Given the description of an element on the screen output the (x, y) to click on. 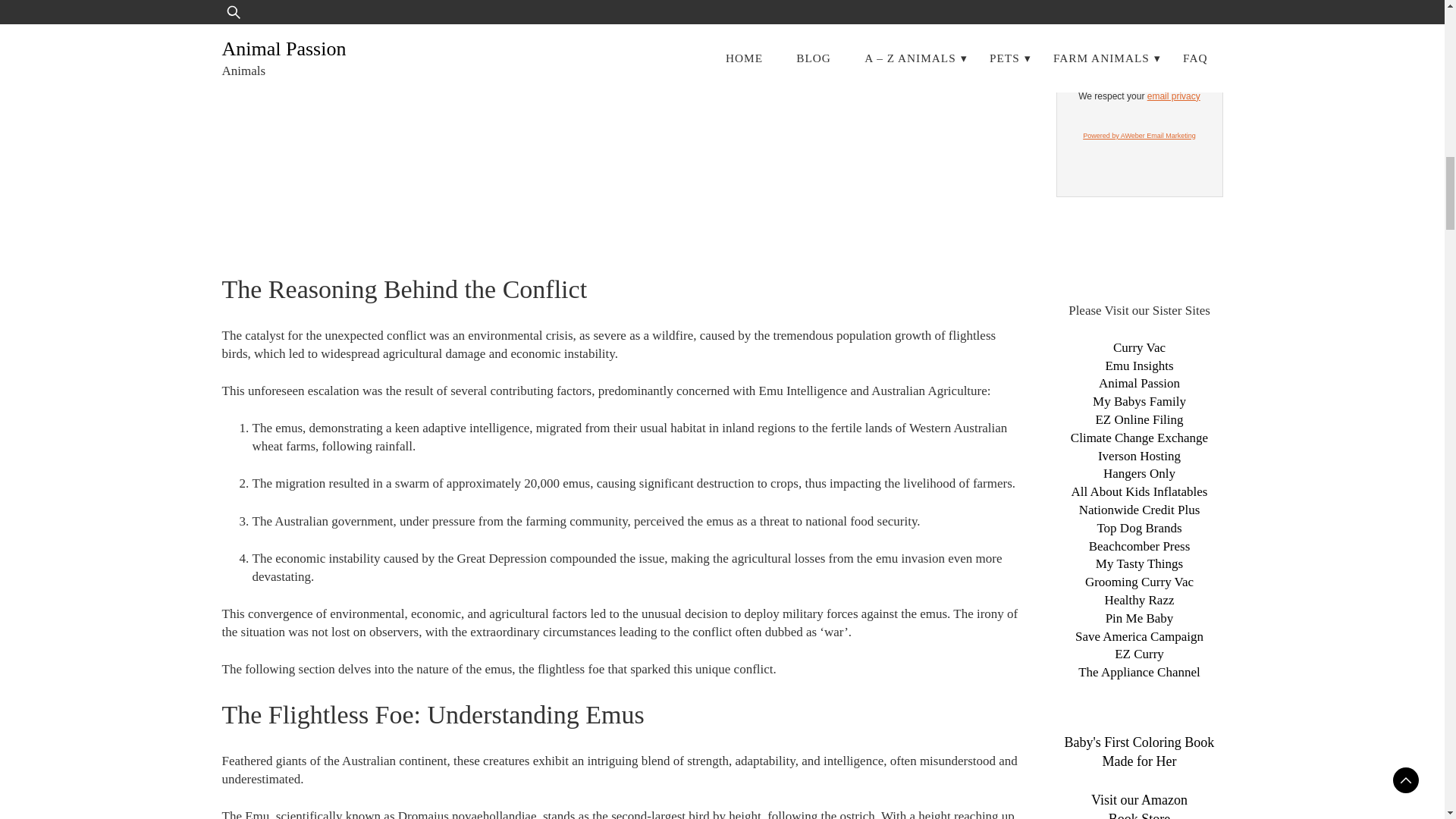
AWeber Email Marketing (1139, 135)
Privacy Policy (1173, 95)
Submit (1184, 64)
